Given the description of an element on the screen output the (x, y) to click on. 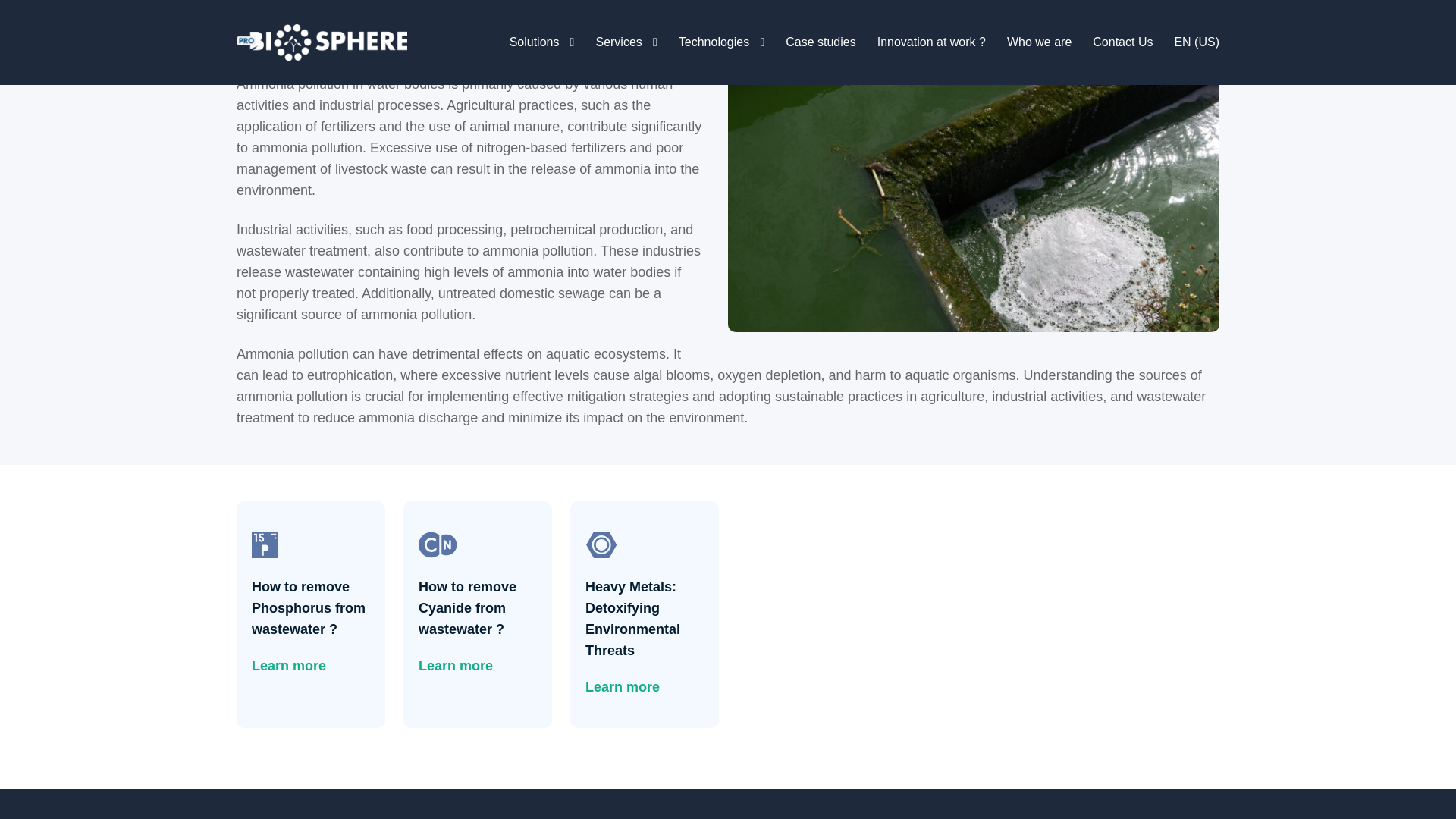
How to remove Phosphorus from wastewater ? (310, 607)
Learn more (622, 686)
How to remove Cyanide from wastewater ? (478, 607)
Learn more (456, 665)
Heavy Metals: Detoxifying Environmental Threats (644, 618)
Learn more (288, 665)
